Given the description of an element on the screen output the (x, y) to click on. 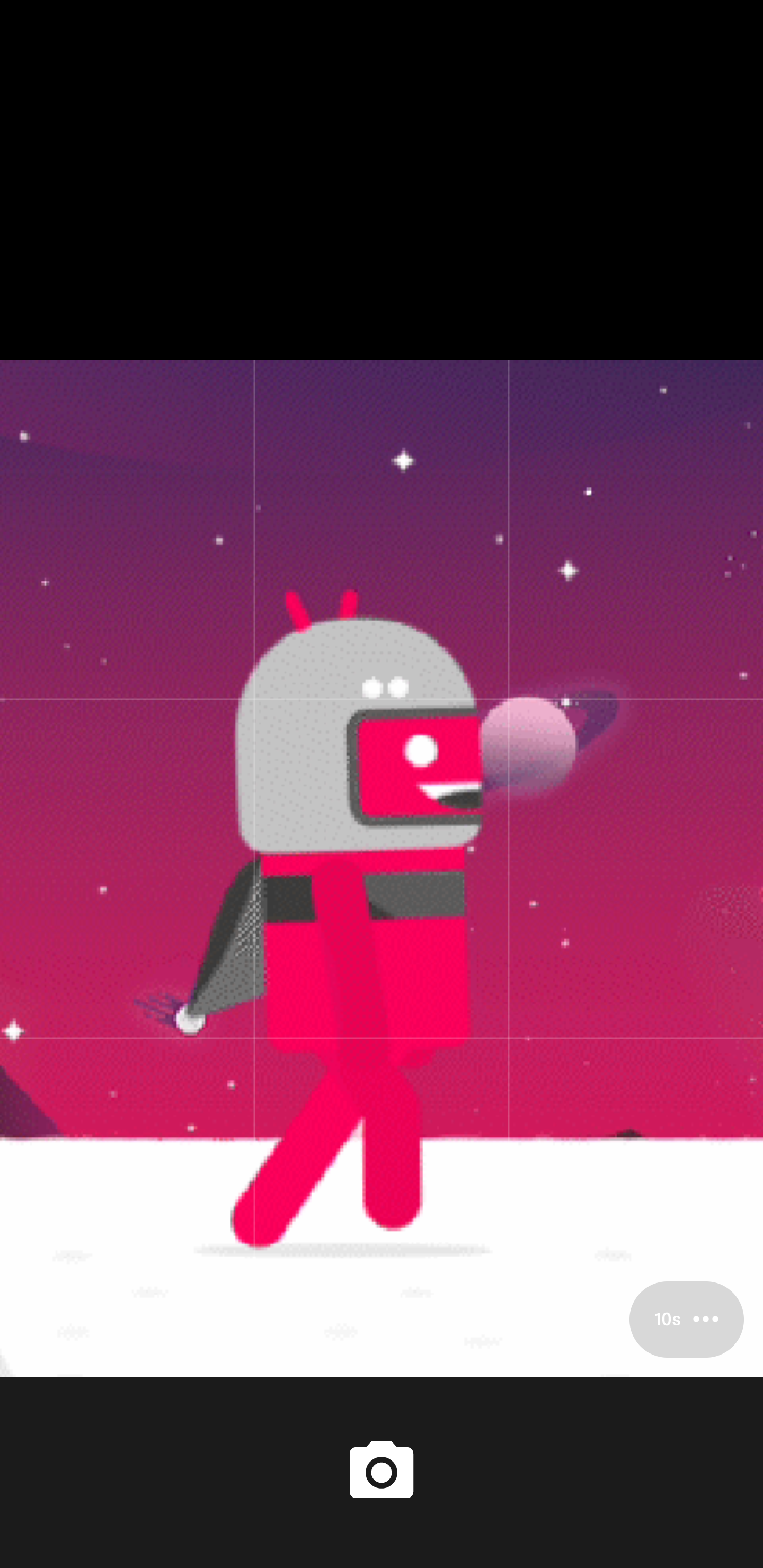
Options (686, 1319)
Shutter (381, 1472)
